Given the description of an element on the screen output the (x, y) to click on. 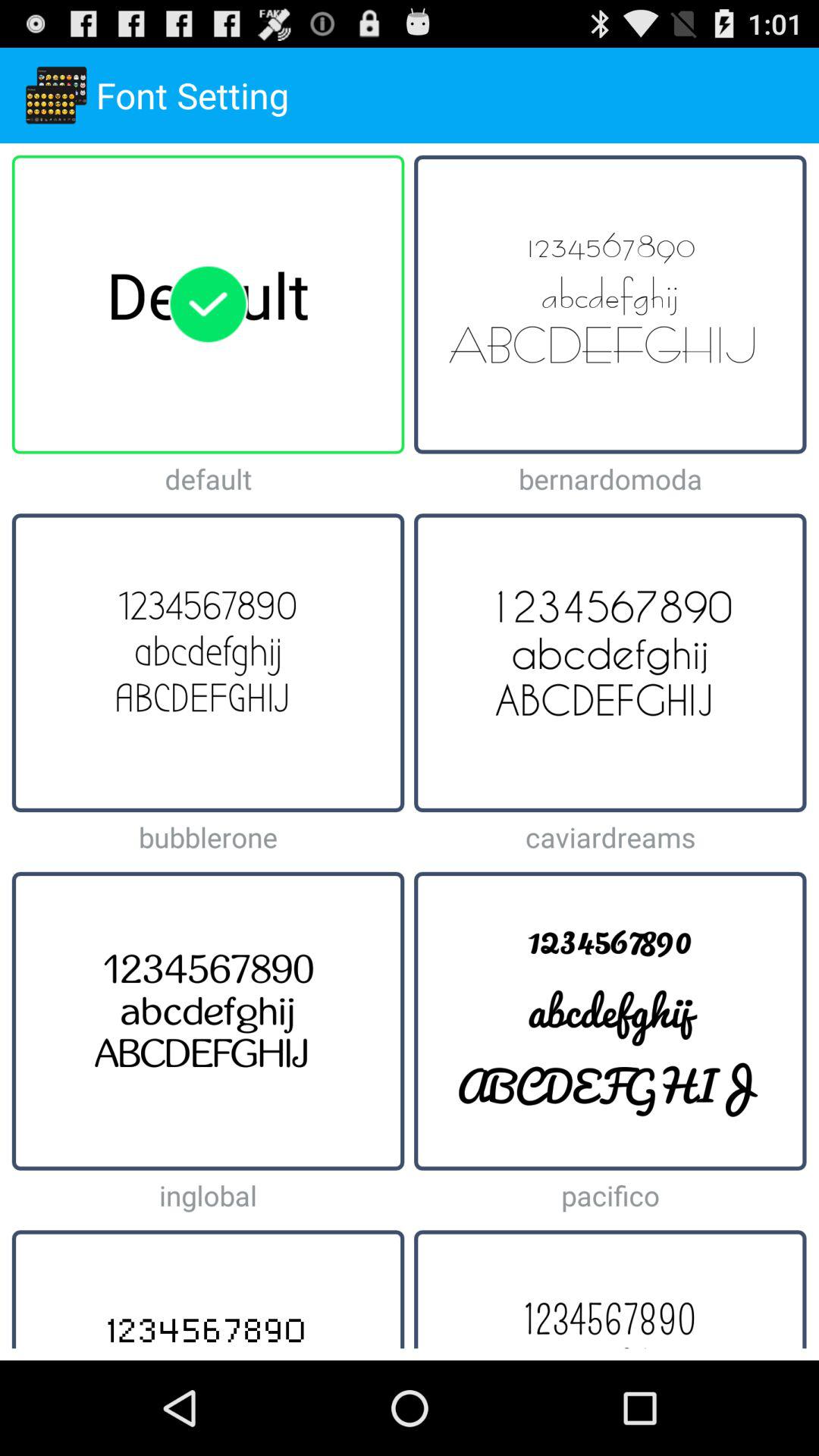
click on the font setting icon (56, 95)
